Given the description of an element on the screen output the (x, y) to click on. 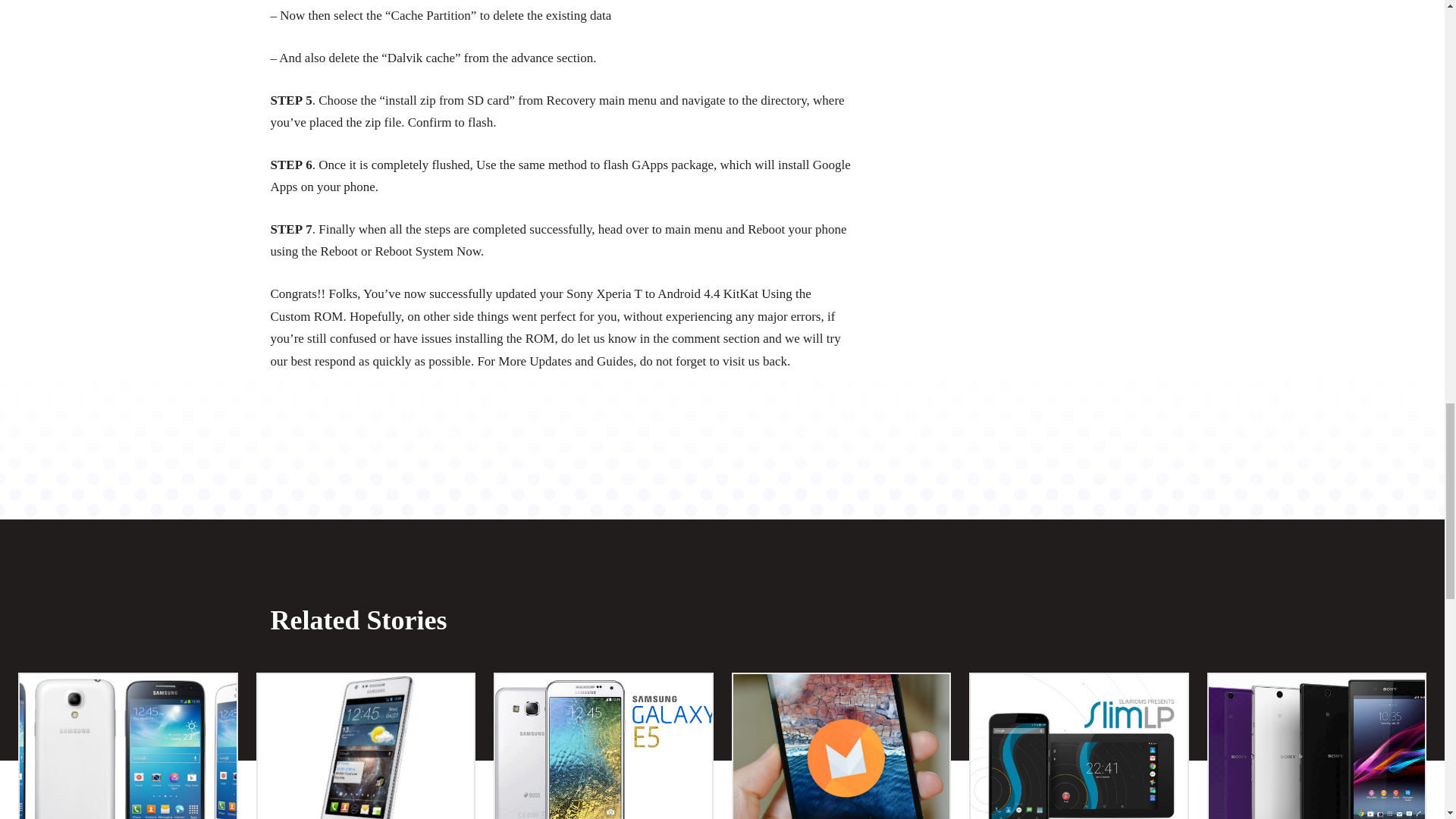
Update Galaxy S4 Mini GT-I9195 to Android Marshmallow (127, 746)
Update Galaxy S2 i9100 to Android Marshmallow 6.0.1 (365, 746)
